Given the description of an element on the screen output the (x, y) to click on. 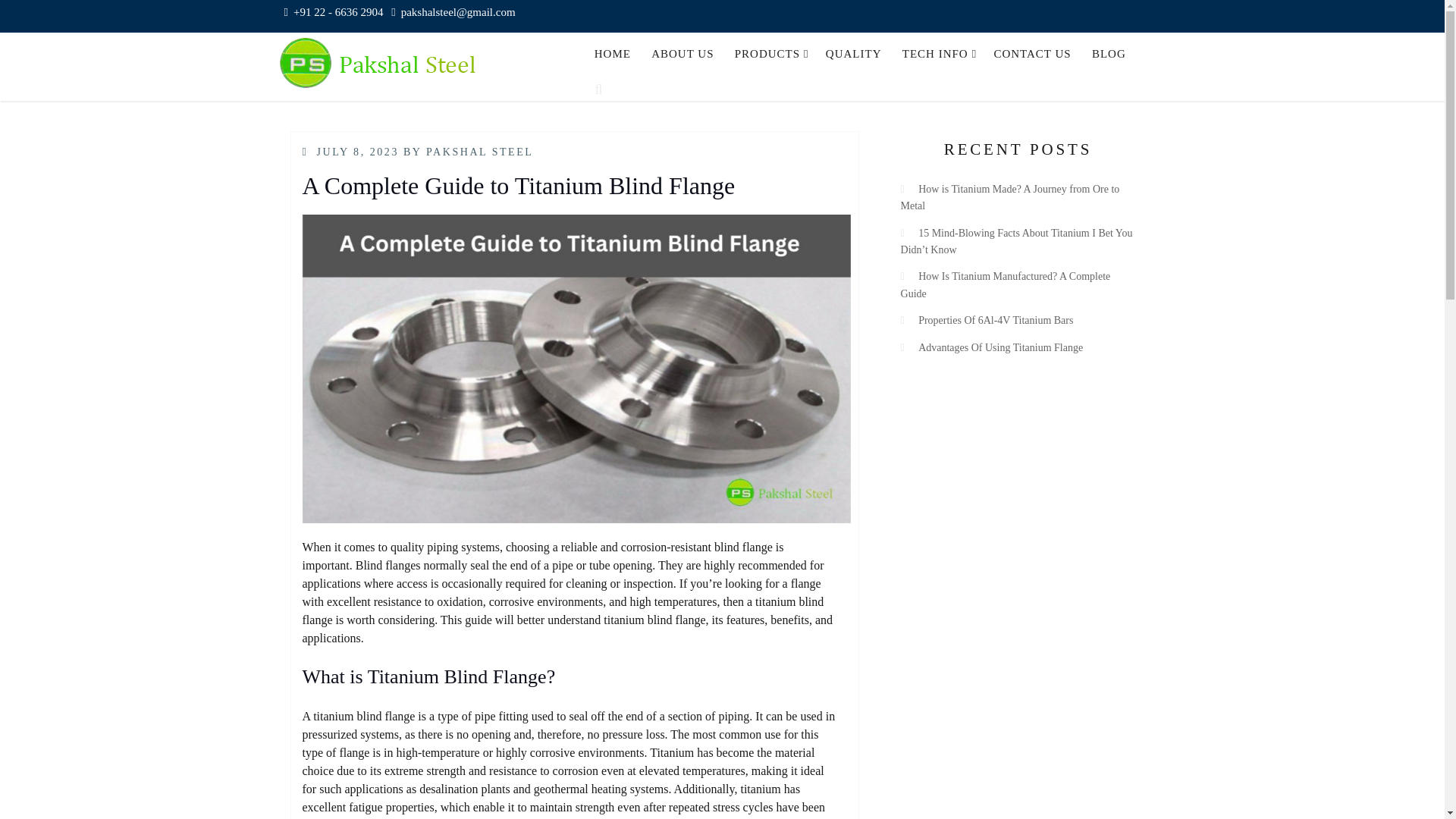
PRODUCTS (768, 54)
BLOG (1108, 54)
ABOUT US (682, 54)
HOME (612, 54)
QUALITY (852, 54)
CONTACT US (1032, 54)
TECH INFO (937, 54)
